Given the description of an element on the screen output the (x, y) to click on. 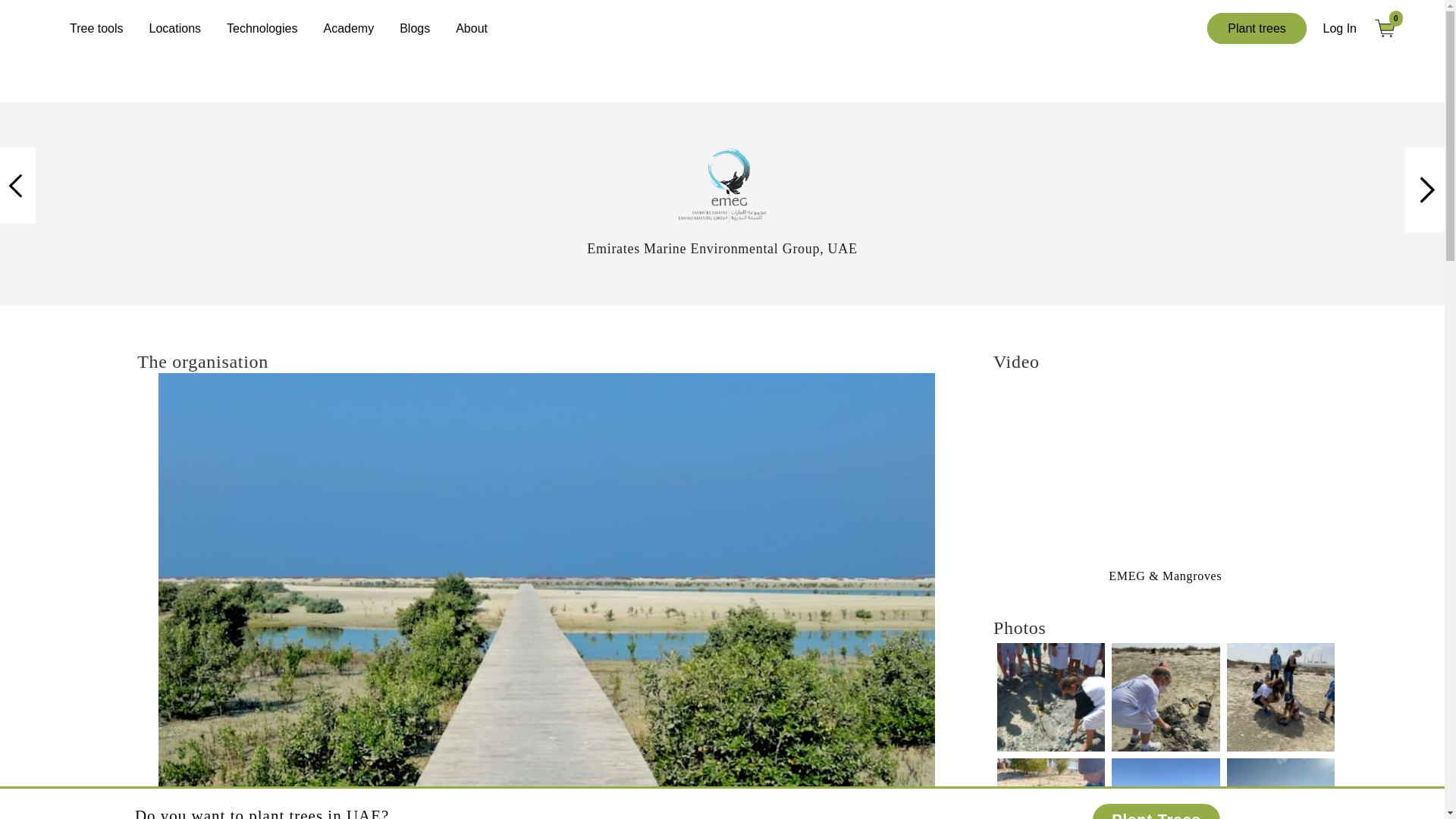
Plant trees (1256, 28)
Tree tools (96, 28)
Log In (1340, 28)
Blogs (414, 28)
Academy (348, 28)
About (471, 28)
EMEG and Mangroves (1165, 469)
EMEG02 (721, 185)
0 (1390, 28)
Locations (175, 28)
Technologies (262, 28)
